Given the description of an element on the screen output the (x, y) to click on. 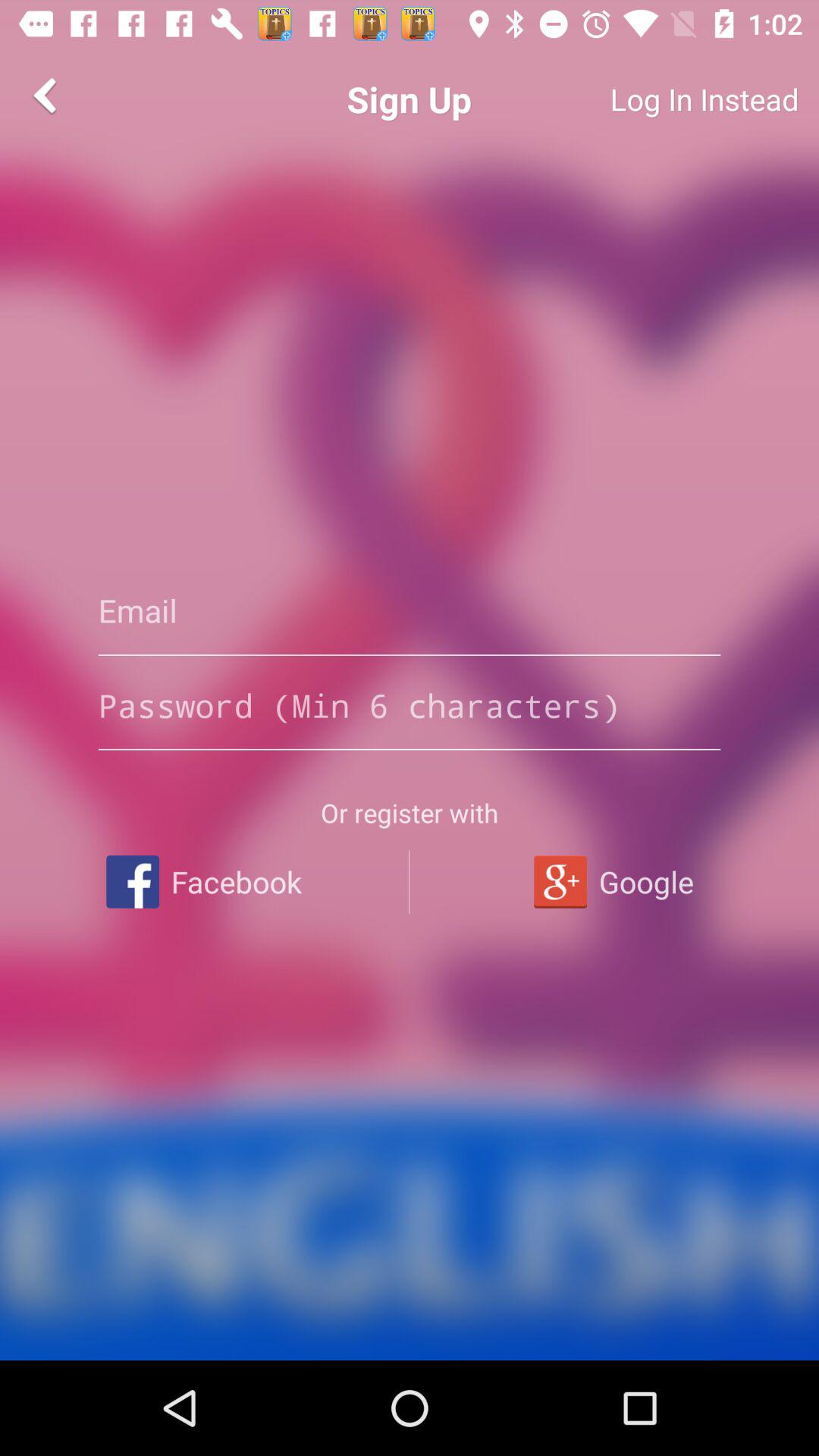
turn off the icon at the top right corner (649, 99)
